Given the description of an element on the screen output the (x, y) to click on. 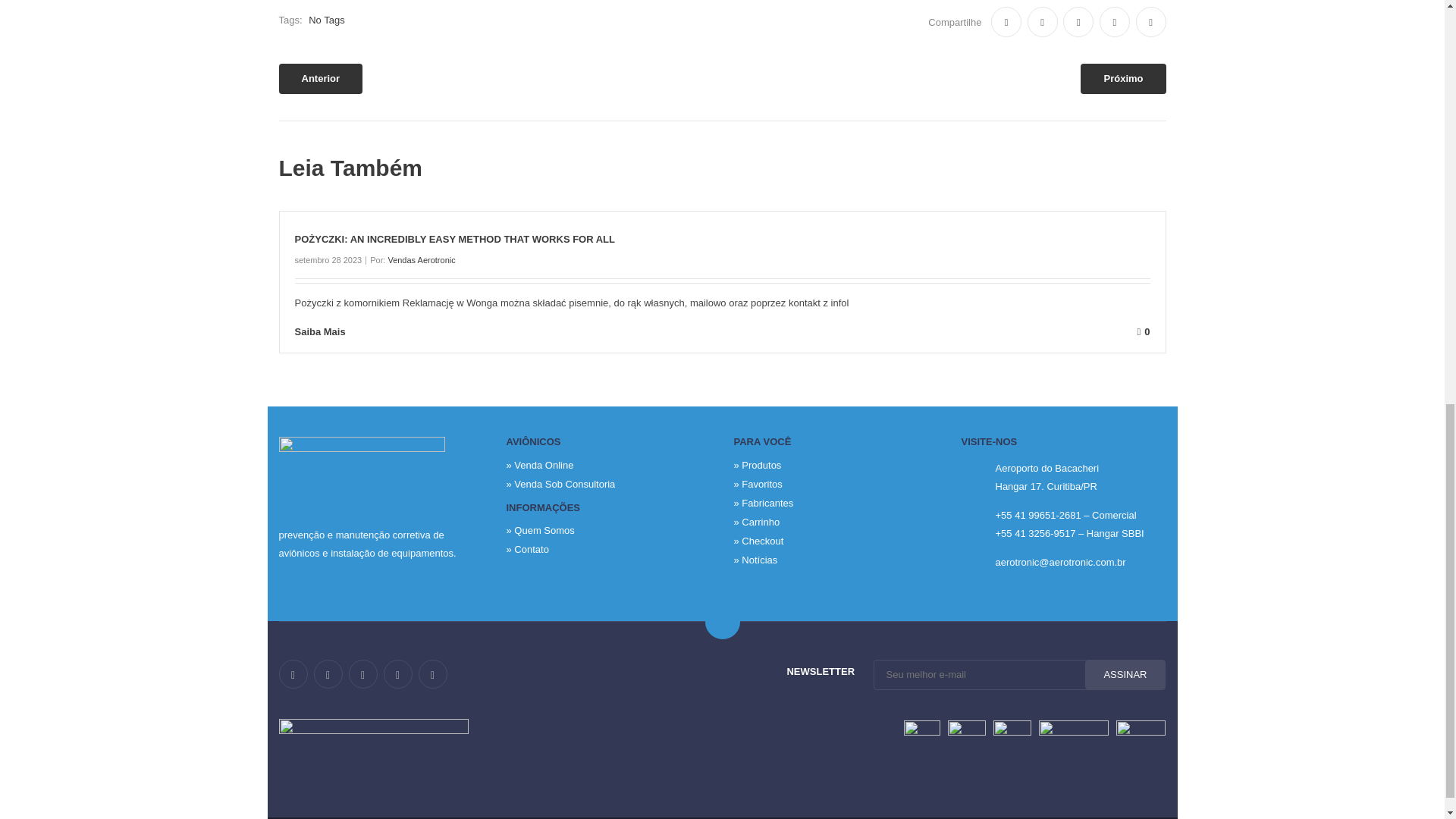
Vendas Aerotronic (420, 259)
Anterior (320, 78)
0 (759, 331)
Saiba Mais (331, 331)
ASSINAR (1124, 674)
